Given the description of an element on the screen output the (x, y) to click on. 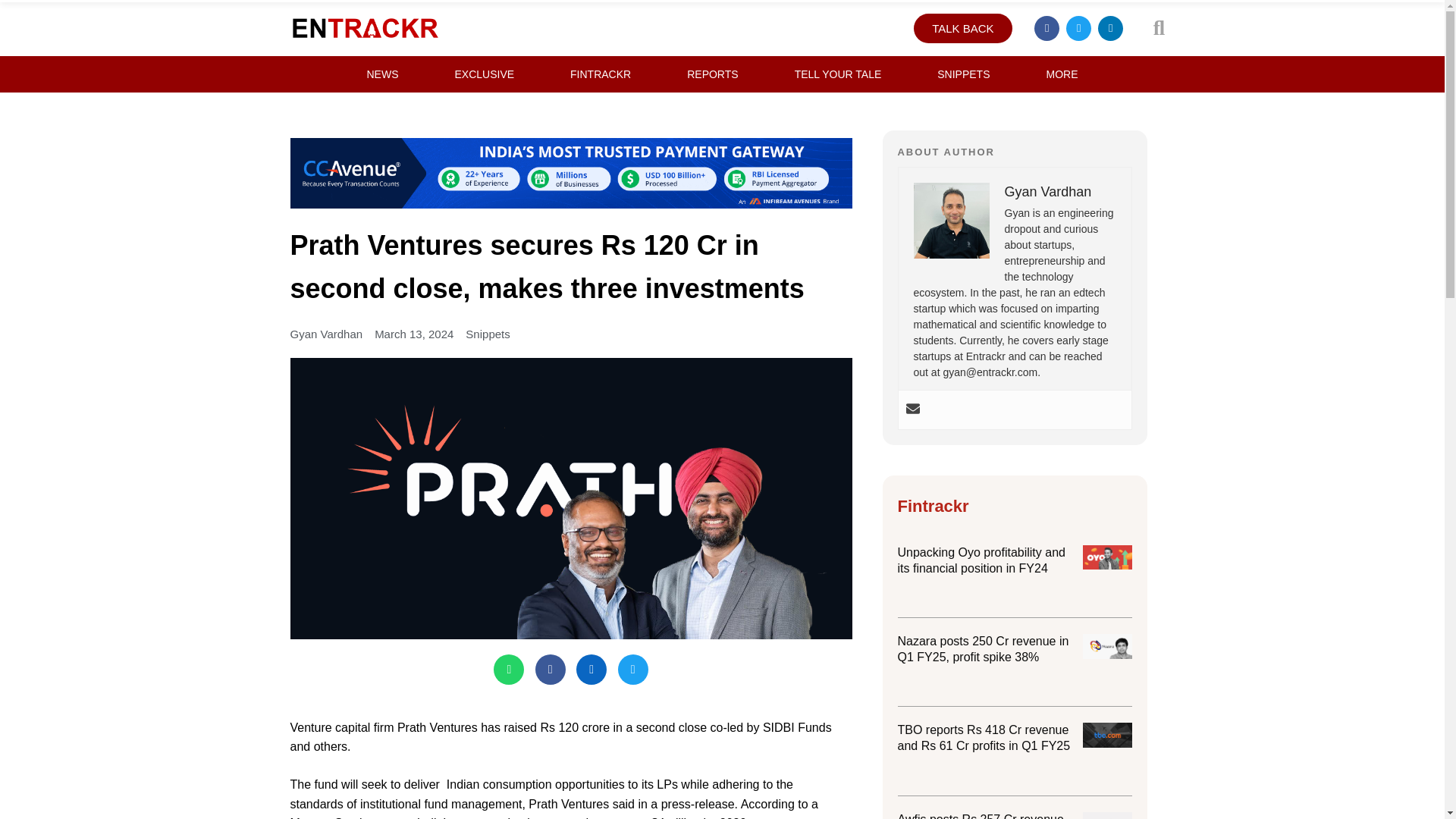
SNIPPETS (962, 74)
FINTRACKR (600, 74)
TELL YOUR TALE (838, 74)
EXCLUSIVE (483, 74)
MORE (1061, 74)
TALK BACK (962, 28)
NEWS (381, 74)
REPORTS (712, 74)
